Given the description of an element on the screen output the (x, y) to click on. 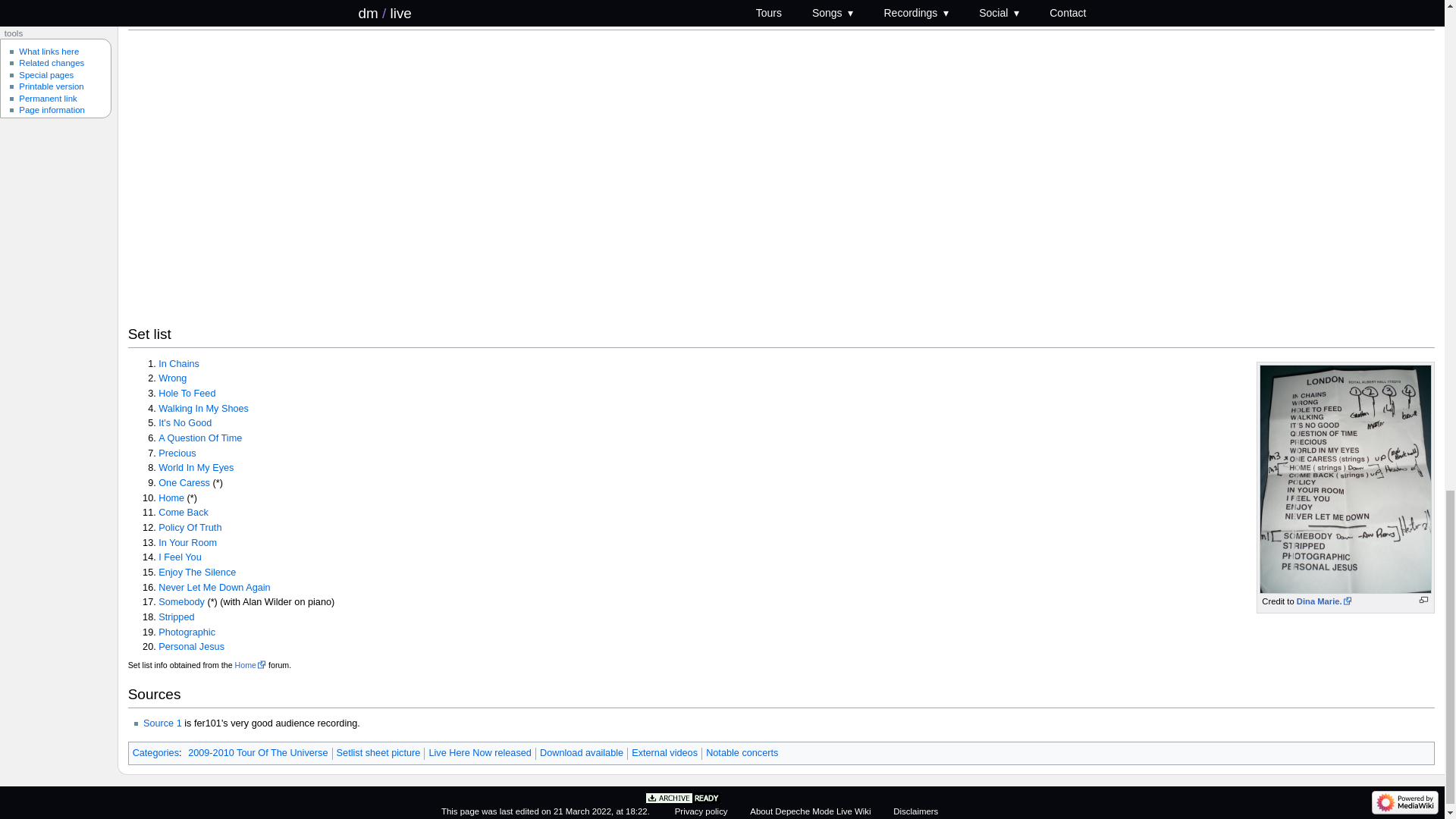
One Caress (183, 482)
World In My Eyes (195, 467)
Enlarge (1423, 600)
Precious (176, 452)
It's No Good (184, 422)
Walking In My Shoes (203, 408)
Hole To Feed (186, 393)
Wrong (172, 378)
A Question Of Time (199, 438)
In Chains (178, 363)
